Given the description of an element on the screen output the (x, y) to click on. 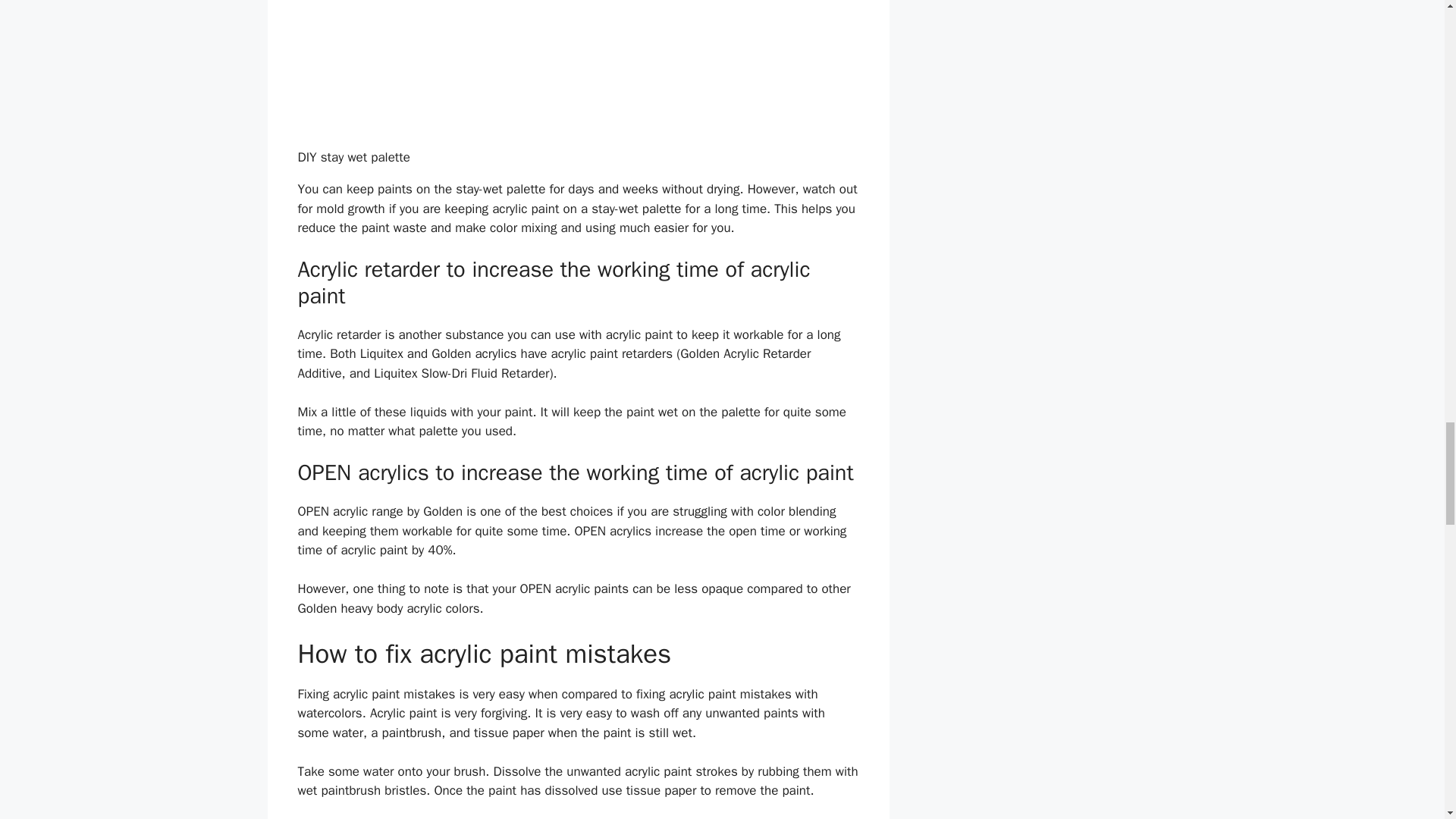
How to Make a Stay Wet Palette to Keep Your Paints Wet (578, 70)
